Given the description of an element on the screen output the (x, y) to click on. 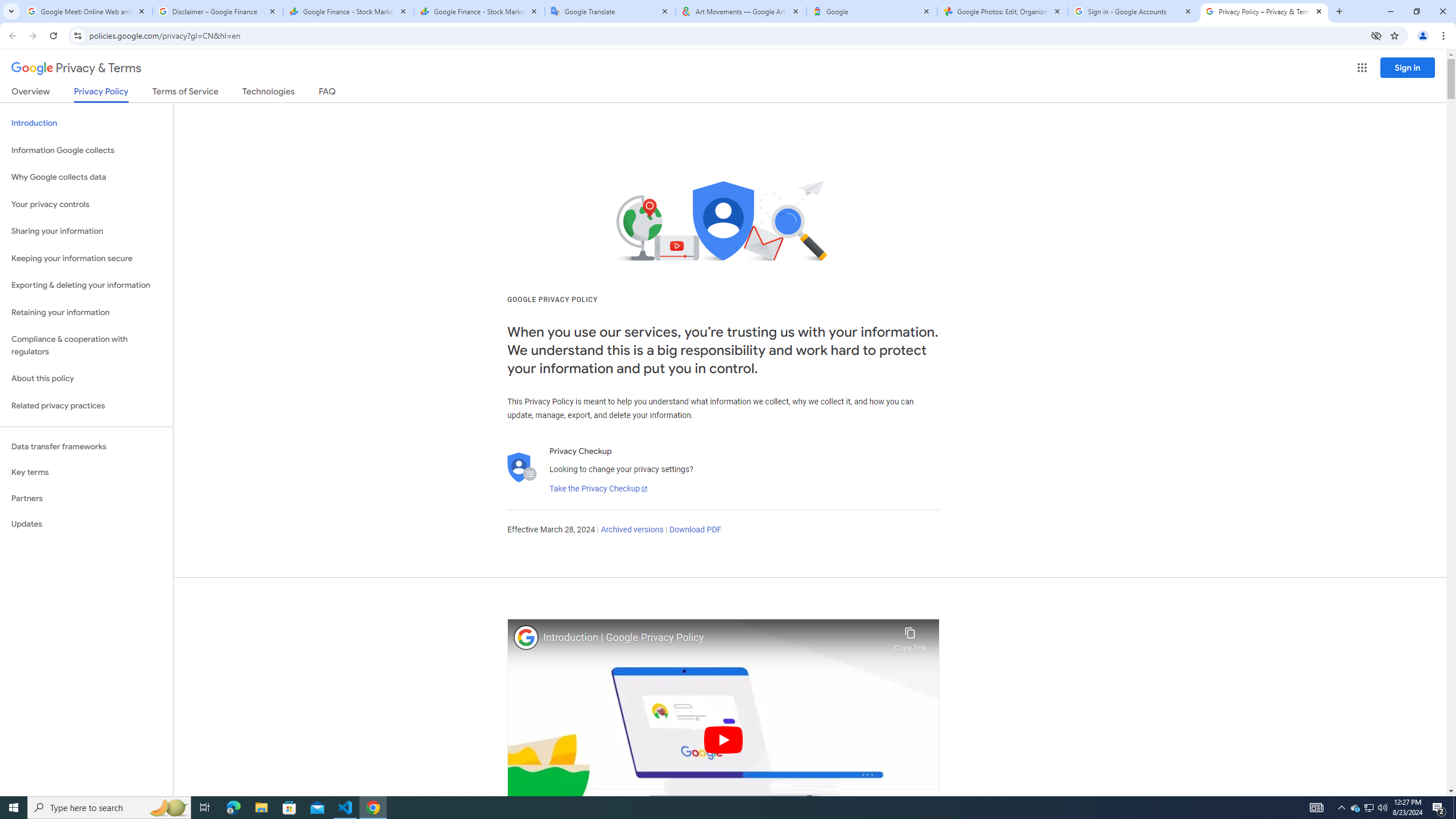
Sign in - Google Accounts (1133, 11)
Play (723, 739)
Related privacy practices (86, 405)
